Given the description of an element on the screen output the (x, y) to click on. 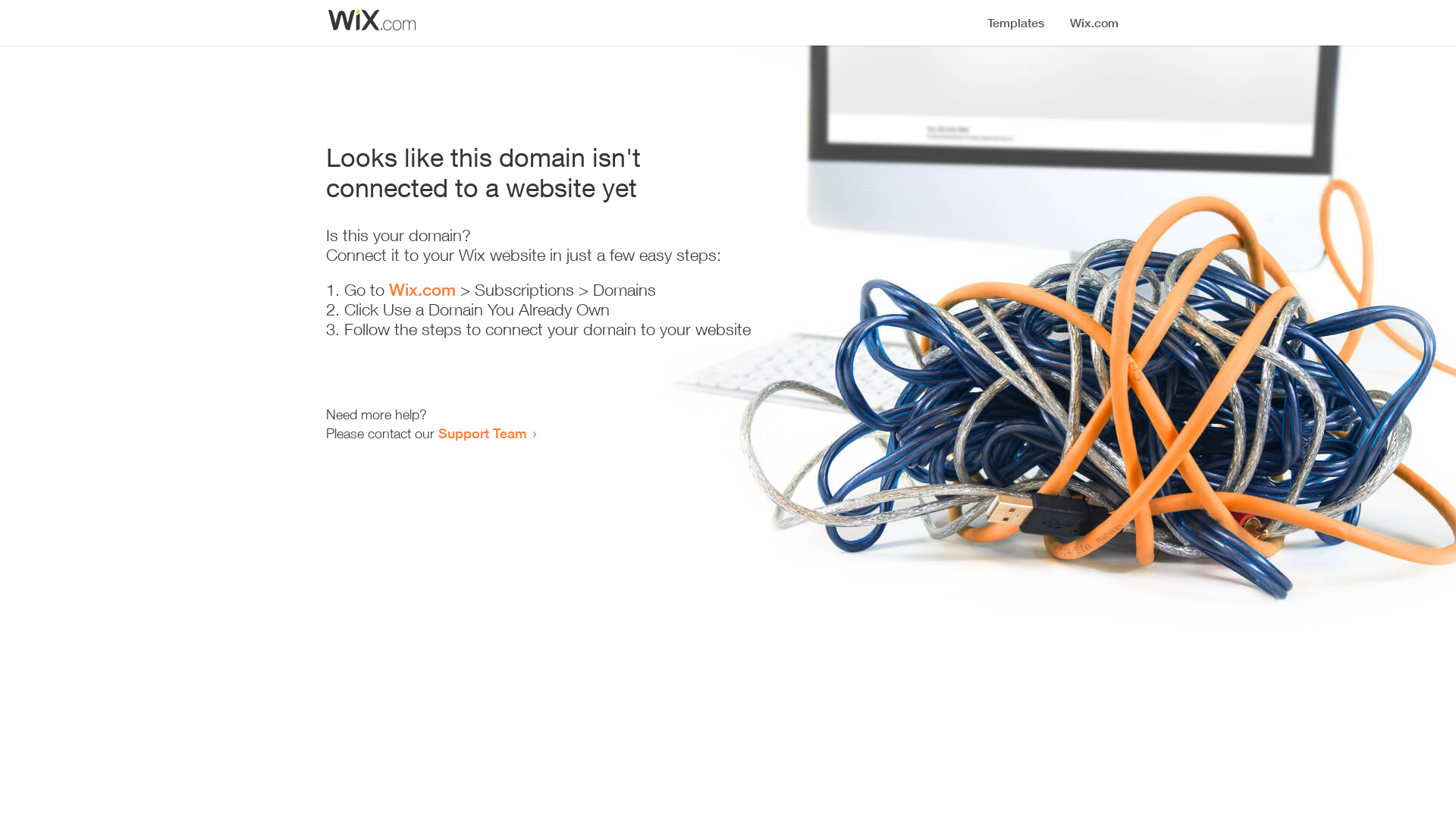
Wix.com Element type: text (422, 289)
Support Team Element type: text (482, 432)
